Given the description of an element on the screen output the (x, y) to click on. 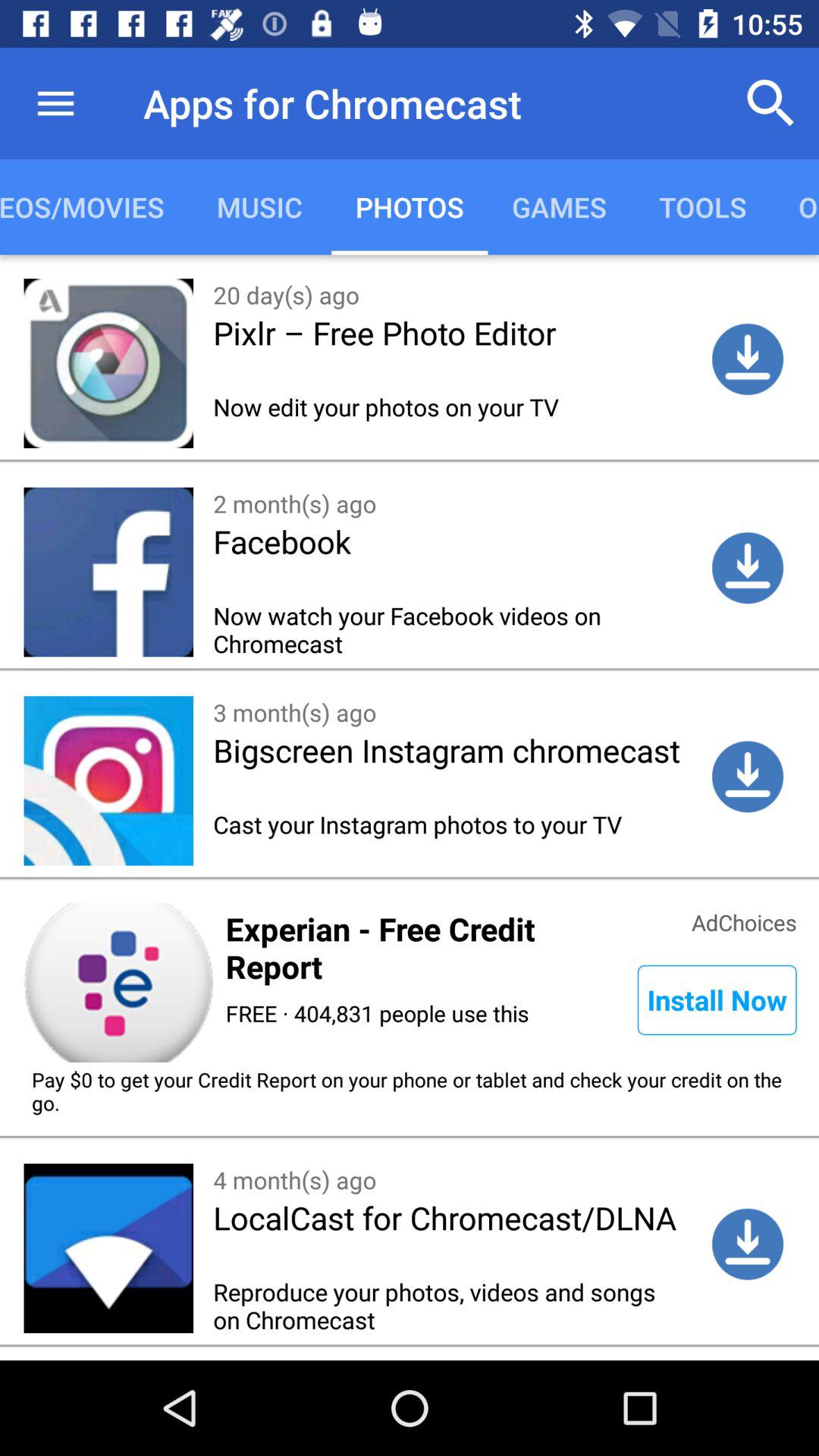
flip until the adchoices (743, 921)
